Given the description of an element on the screen output the (x, y) to click on. 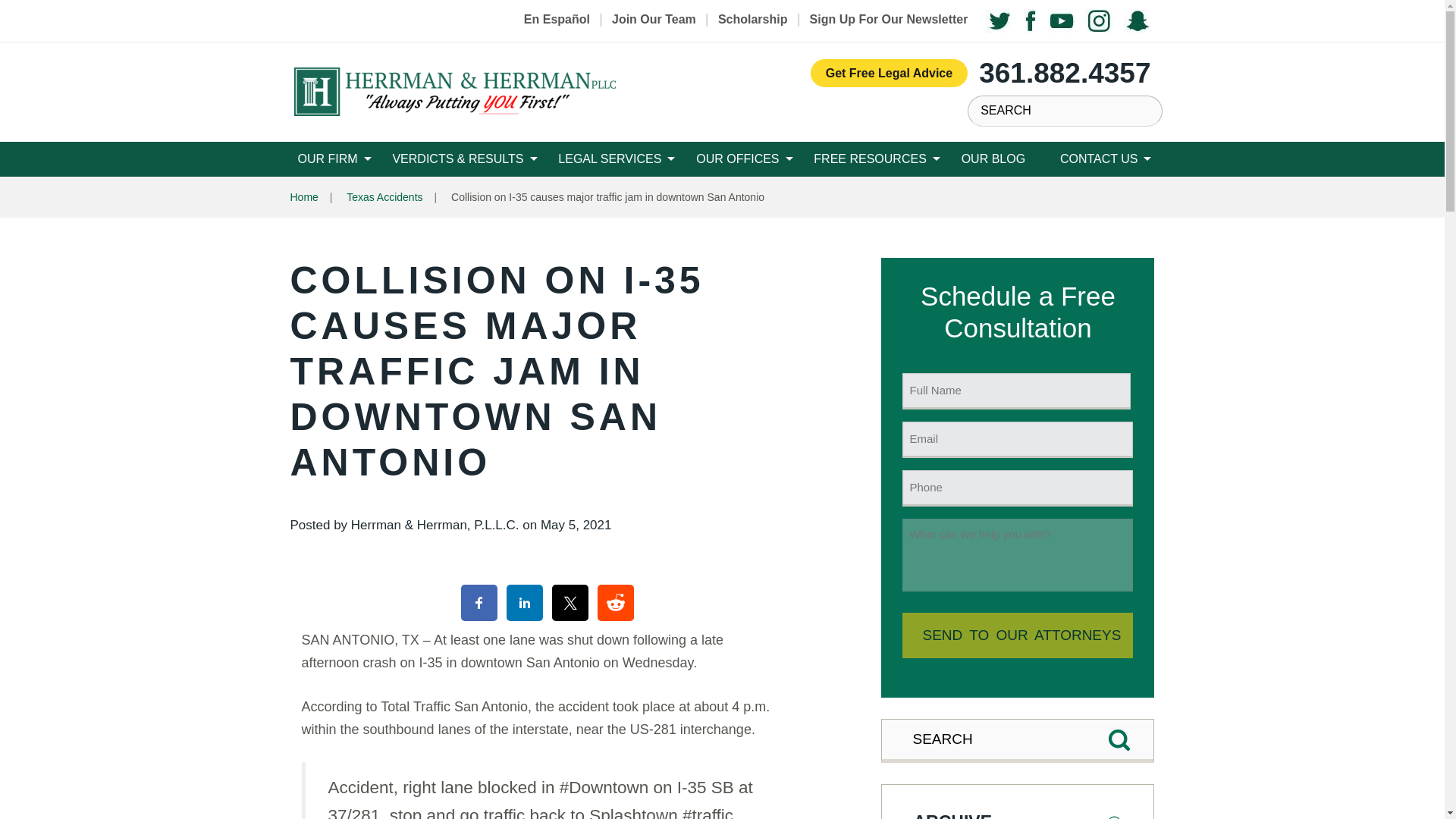
SEND TO OUR ATTORNEYS (1017, 635)
